Given the description of an element on the screen output the (x, y) to click on. 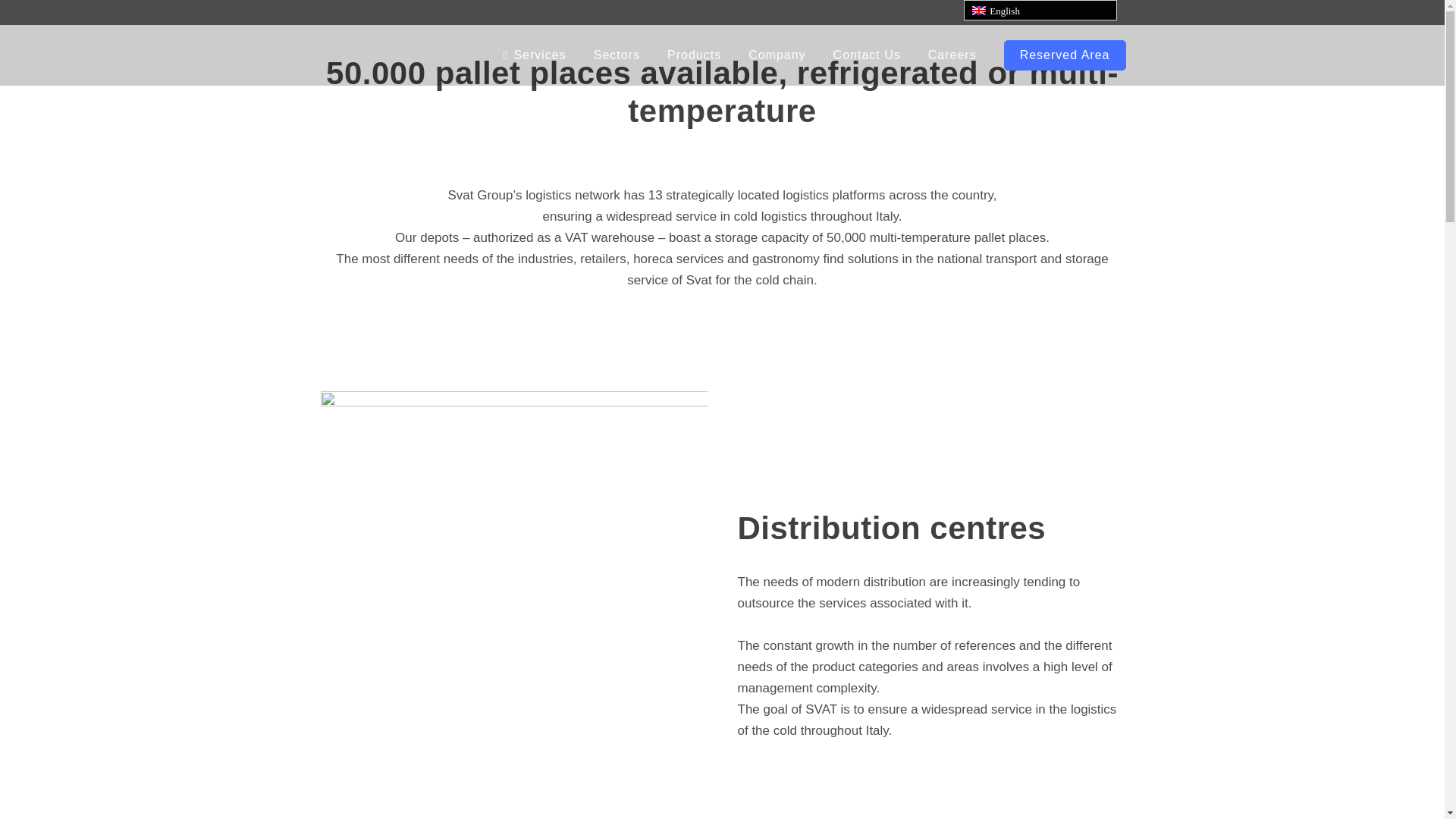
Reserved Area (1065, 55)
Company (776, 55)
Contact Us (866, 55)
English (1039, 10)
Products (694, 55)
English (978, 10)
Services (534, 55)
Careers (952, 55)
Sectors (616, 55)
